Given the description of an element on the screen output the (x, y) to click on. 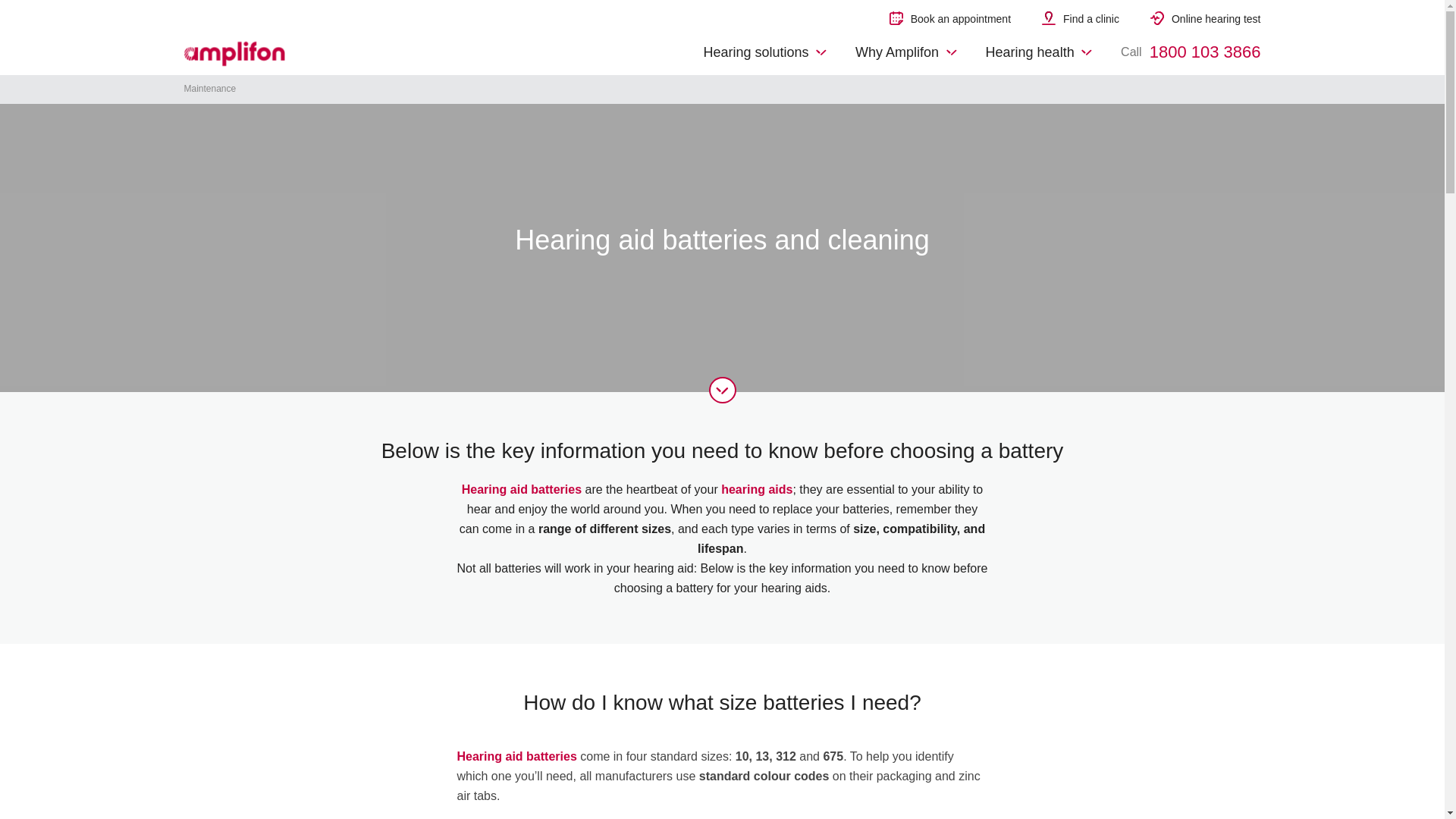
Find a clinic (1080, 18)
Online hearing test (1205, 18)
Book an appointment (949, 18)
